Given the description of an element on the screen output the (x, y) to click on. 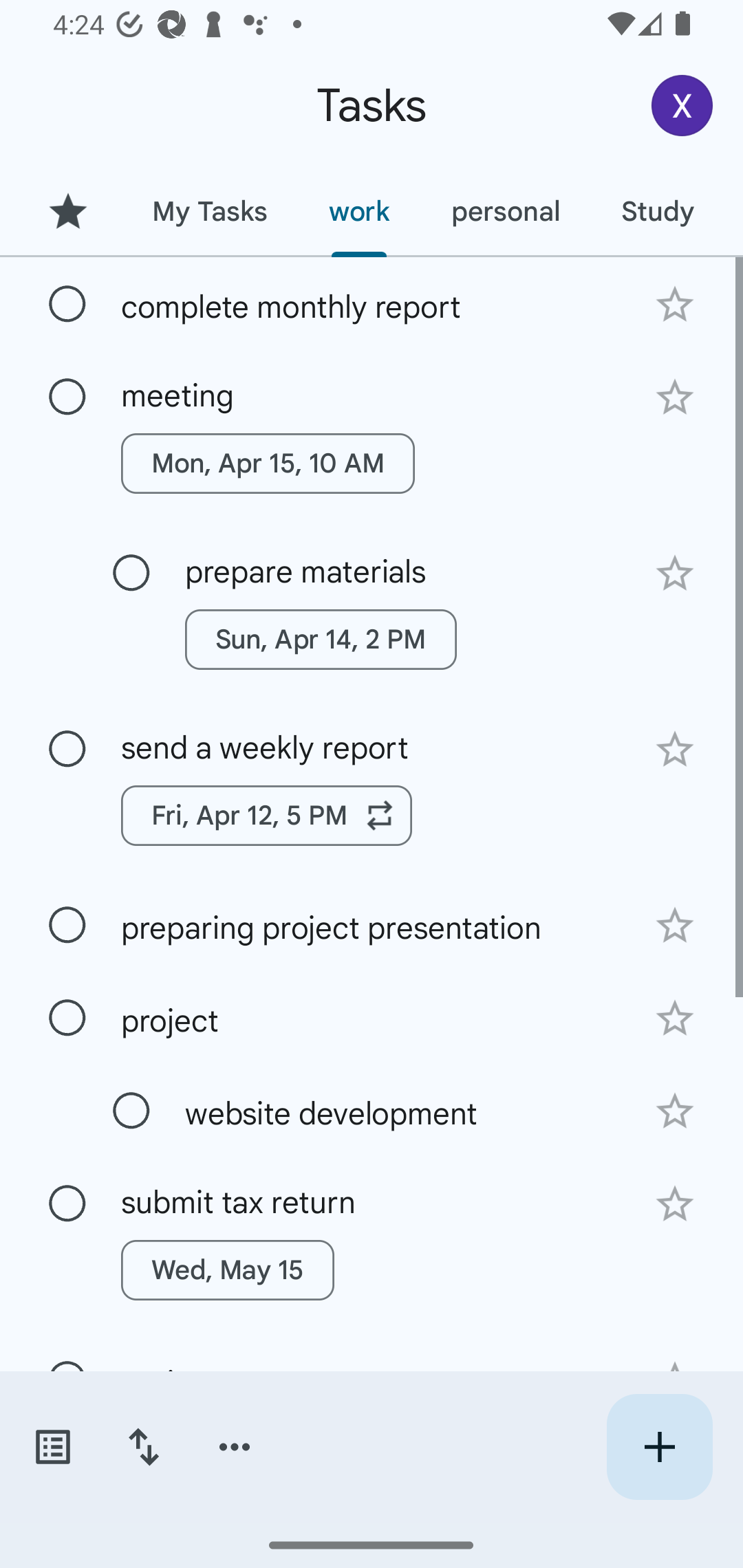
Starred (67, 211)
My Tasks (209, 211)
personal (504, 211)
Study (656, 211)
Add star (674, 303)
Mark as complete (67, 304)
Add star (674, 397)
Mark as complete (67, 397)
Mon, Apr 15, 10 AM (267, 463)
Add star (674, 573)
Mark as complete (131, 572)
Sun, Apr 14, 2 PM (320, 639)
Add star (674, 749)
Mark as complete (67, 750)
Fri, Apr 12, 5 PM (266, 814)
Add star (674, 924)
Mark as complete (67, 925)
Add star (674, 1018)
Mark as complete (67, 1018)
Add star (674, 1111)
Mark as complete (131, 1110)
Add star (674, 1203)
Mark as complete (67, 1204)
Wed, May 15 (227, 1269)
Create new task (659, 1446)
Change sort order (143, 1446)
More options (234, 1446)
